Given the description of an element on the screen output the (x, y) to click on. 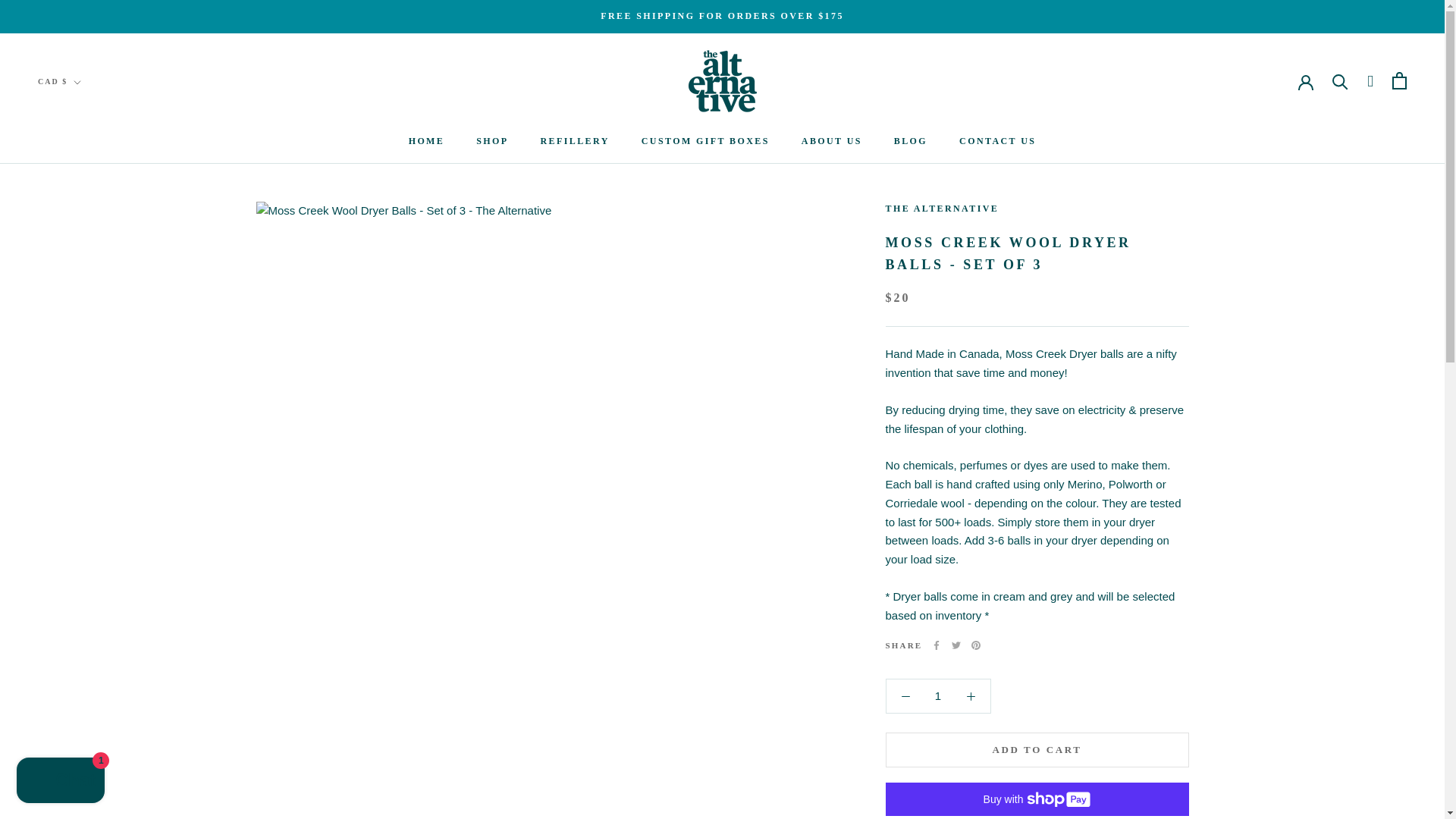
Shopify online store chat (60, 781)
1 (938, 695)
